Given the description of an element on the screen output the (x, y) to click on. 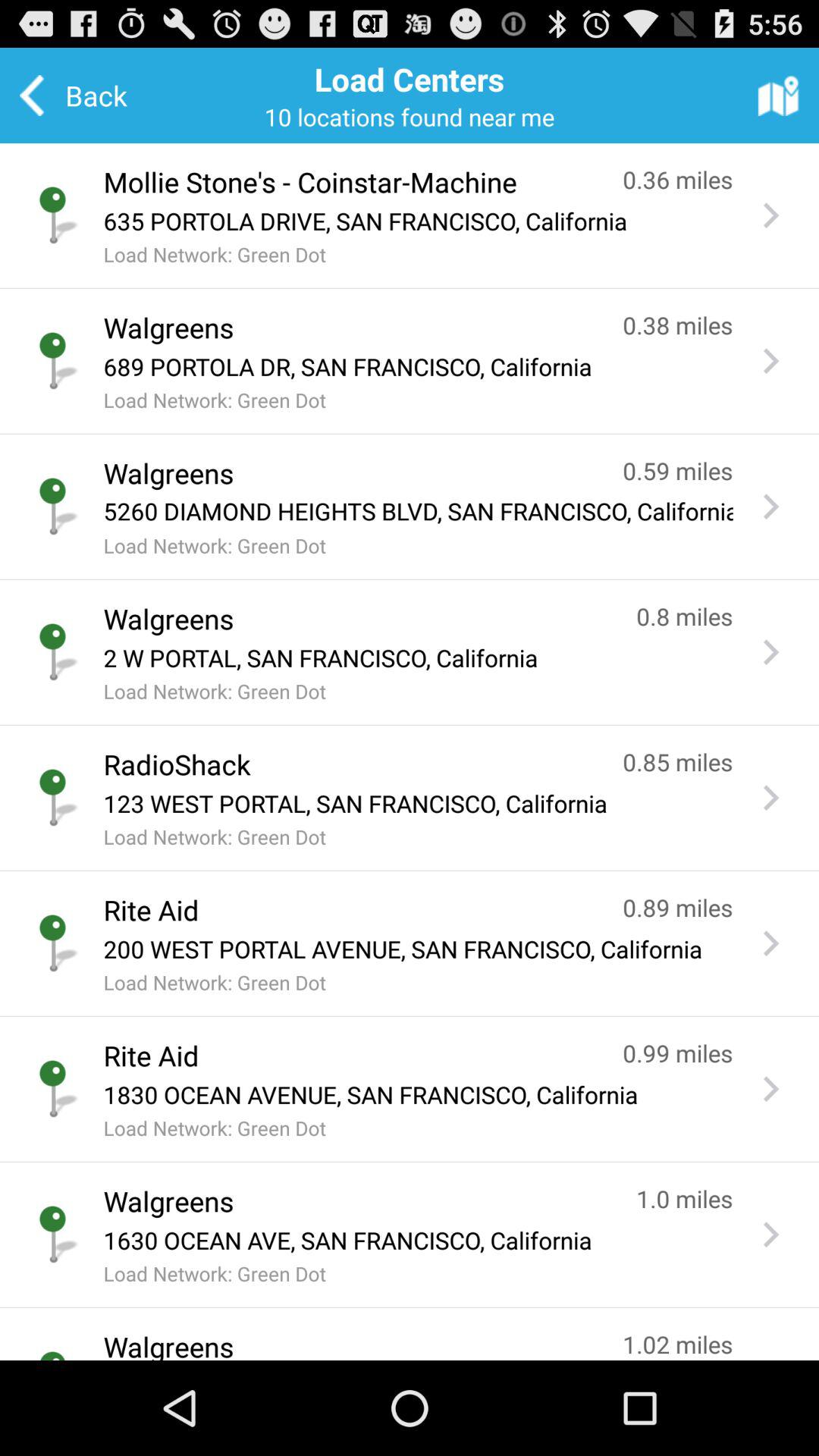
open the button below the back icon (347, 181)
